Given the description of an element on the screen output the (x, y) to click on. 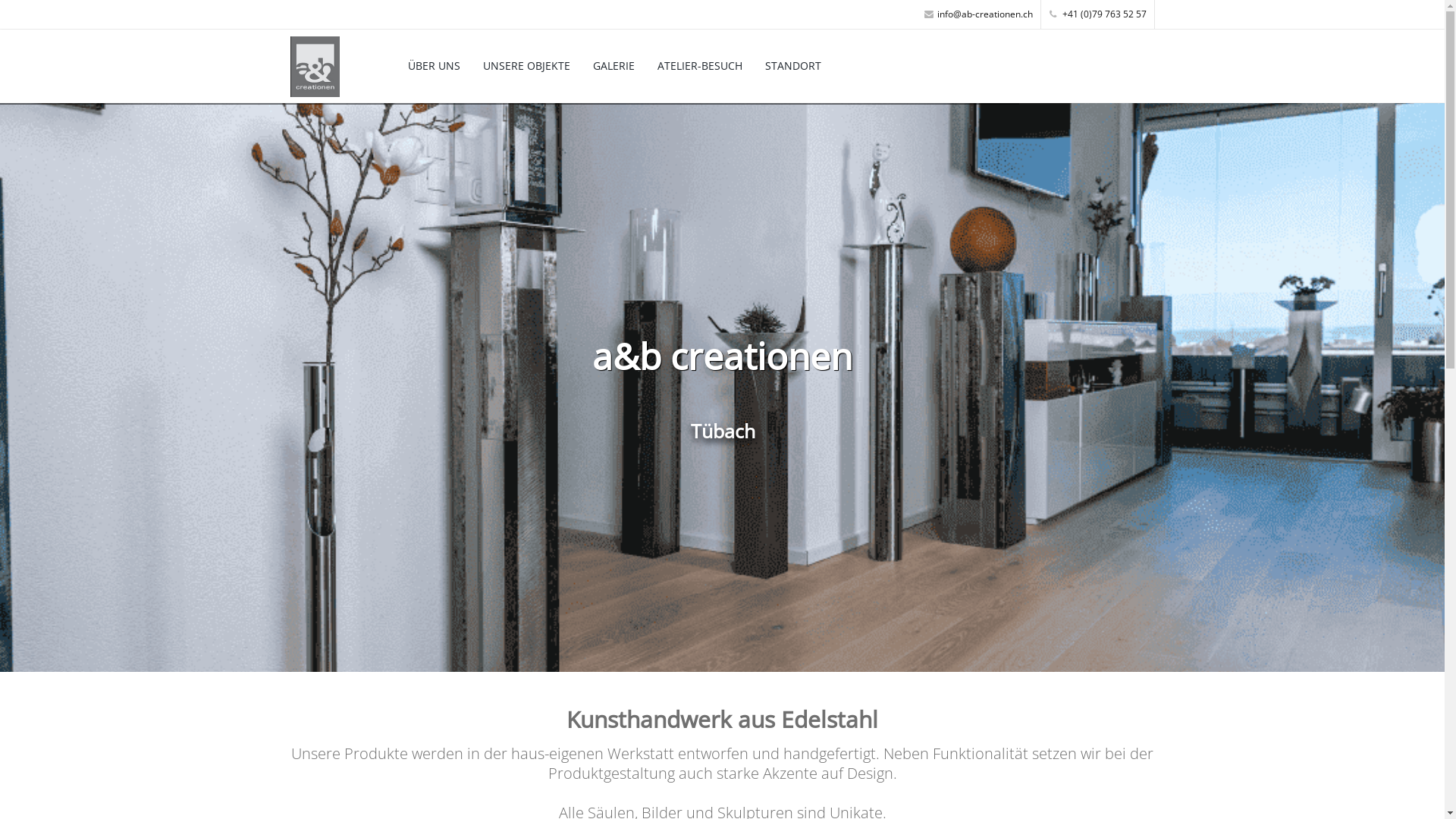
info@ab-creationen.ch Element type: text (977, 14)
STANDORT Element type: text (792, 65)
 +41 (0)79 763 52 57 Element type: text (1097, 14)
UNSERE OBJEKTE Element type: text (526, 65)
ATELIER-BESUCH Element type: text (699, 65)
GALERIE Element type: text (613, 65)
